Given the description of an element on the screen output the (x, y) to click on. 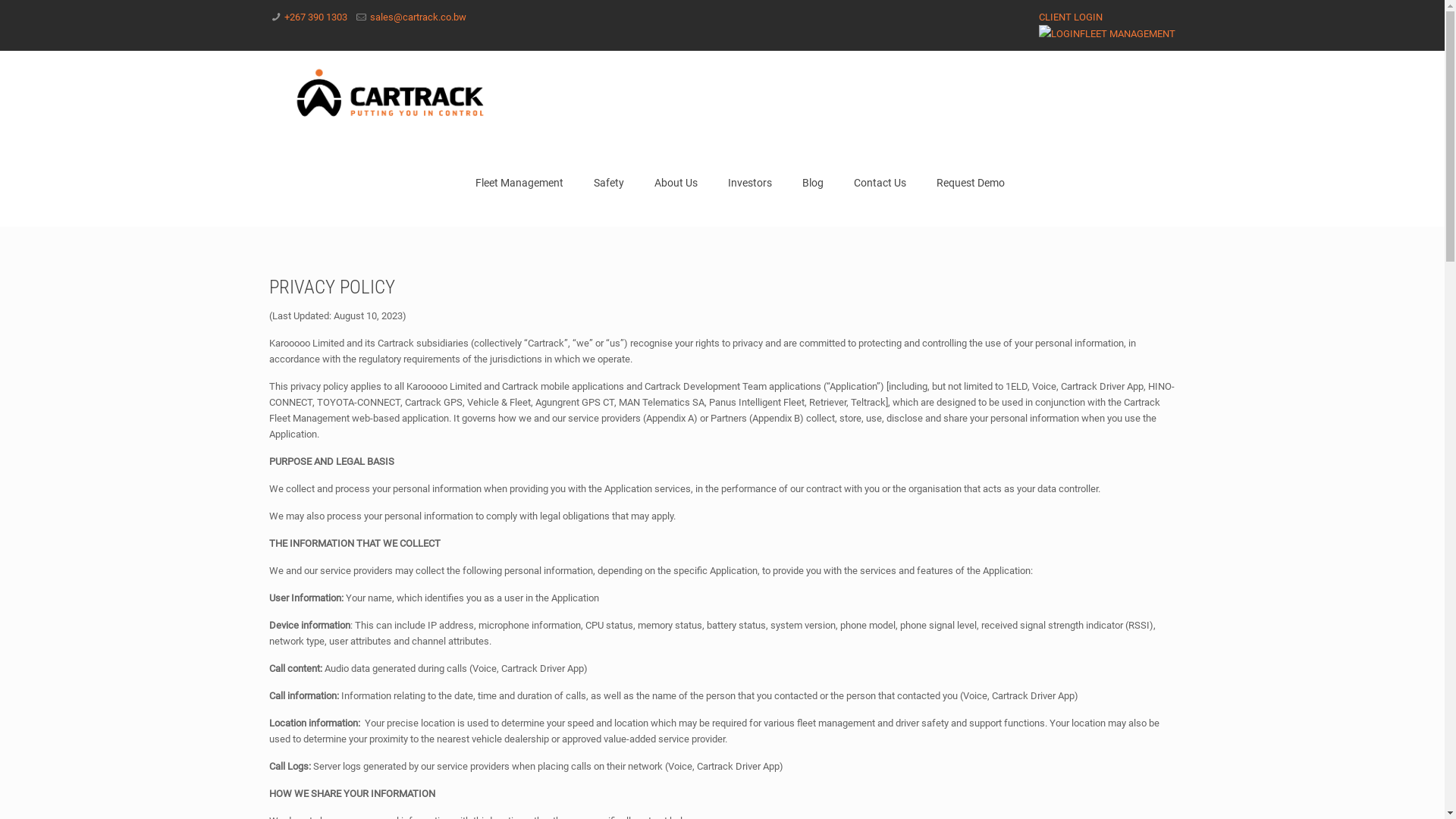
Request Demo Element type: text (970, 182)
+267 390 1303 Element type: text (315, 16)
Contact Us Element type: text (879, 182)
Fleet Management Element type: text (519, 182)
LOGINFLEET MANAGEMENT Element type: text (1106, 33)
Cartrack Botswana Element type: hover (390, 94)
CLIENT LOGIN Element type: text (1070, 16)
Investors Element type: text (749, 182)
Blog Element type: text (812, 182)
About Us Element type: text (675, 182)
Safety Element type: text (608, 182)
sales@cartrack.co.bw Element type: text (418, 16)
